Given the description of an element on the screen output the (x, y) to click on. 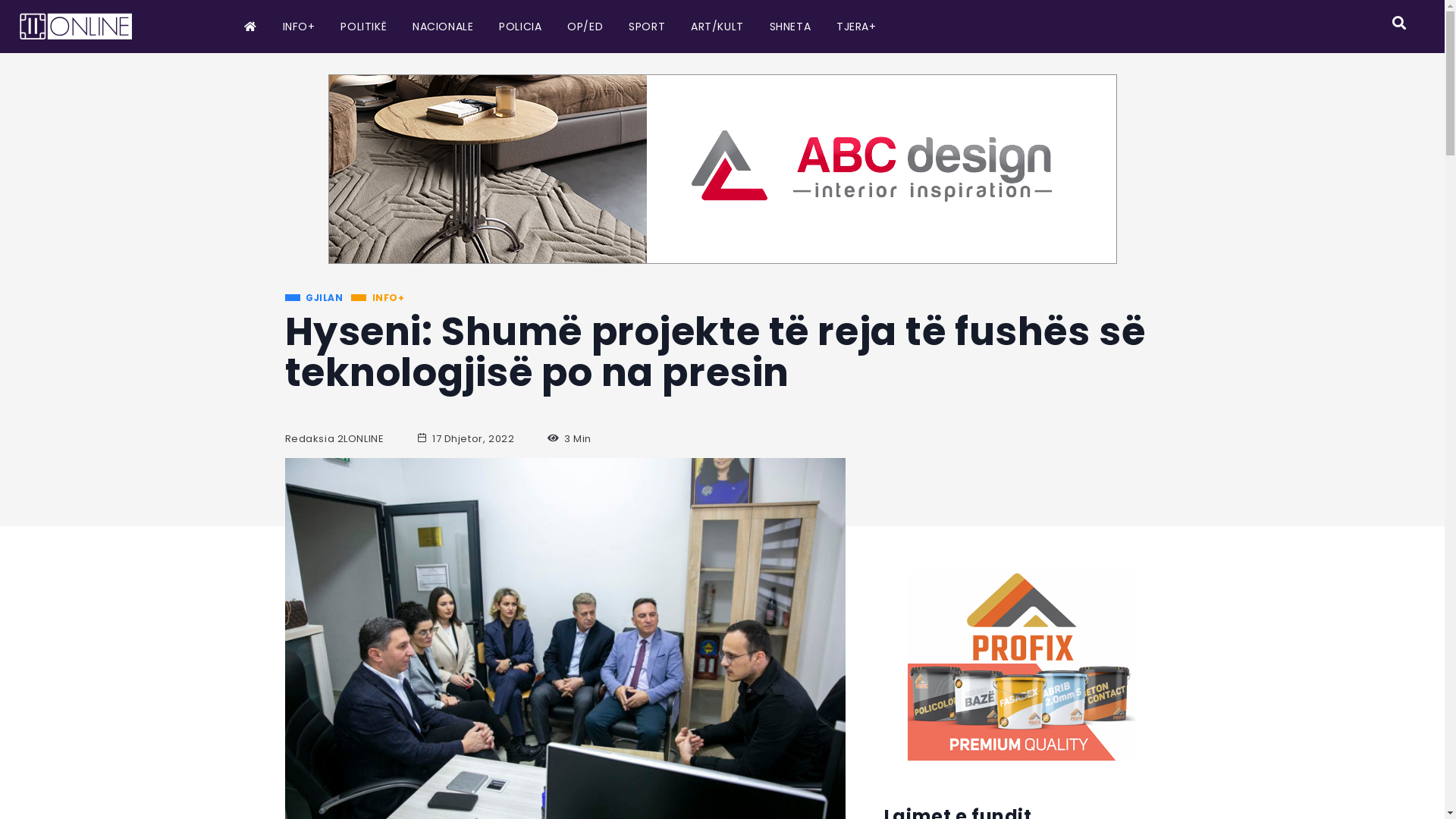
GJILAN Element type: text (314, 298)
Redaksia 2LONLINE Element type: text (334, 438)
INFO+ Element type: text (377, 298)
